Given the description of an element on the screen output the (x, y) to click on. 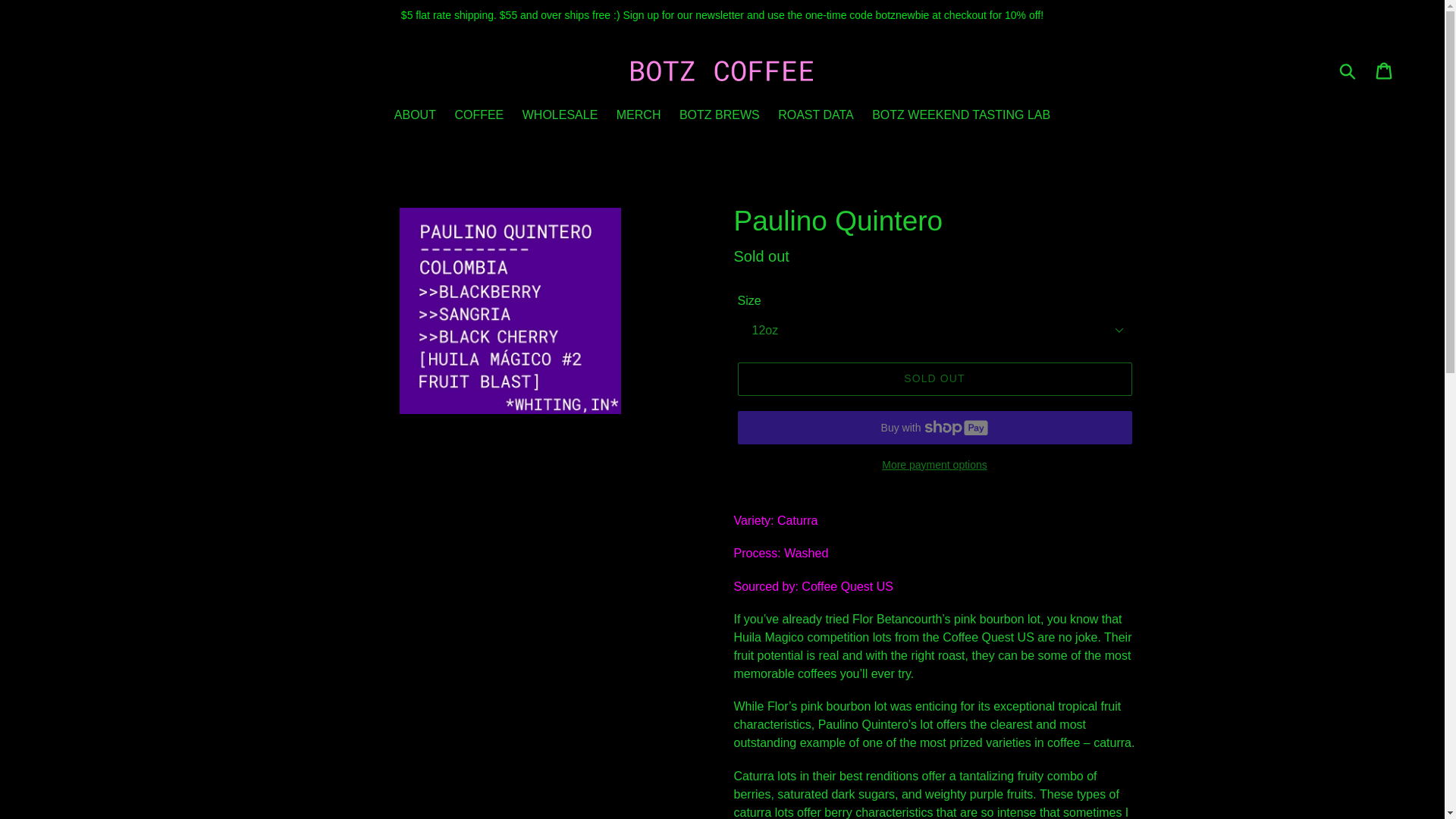
MERCH (638, 116)
BOTZ BREWS (719, 116)
WHOLESALE (560, 116)
BOTZ WEEKEND TASTING LAB (961, 116)
ABOUT (415, 116)
Submit (1348, 70)
COFFEE (478, 116)
Cart (1385, 70)
SOLD OUT (933, 378)
More payment options (933, 465)
